Given the description of an element on the screen output the (x, y) to click on. 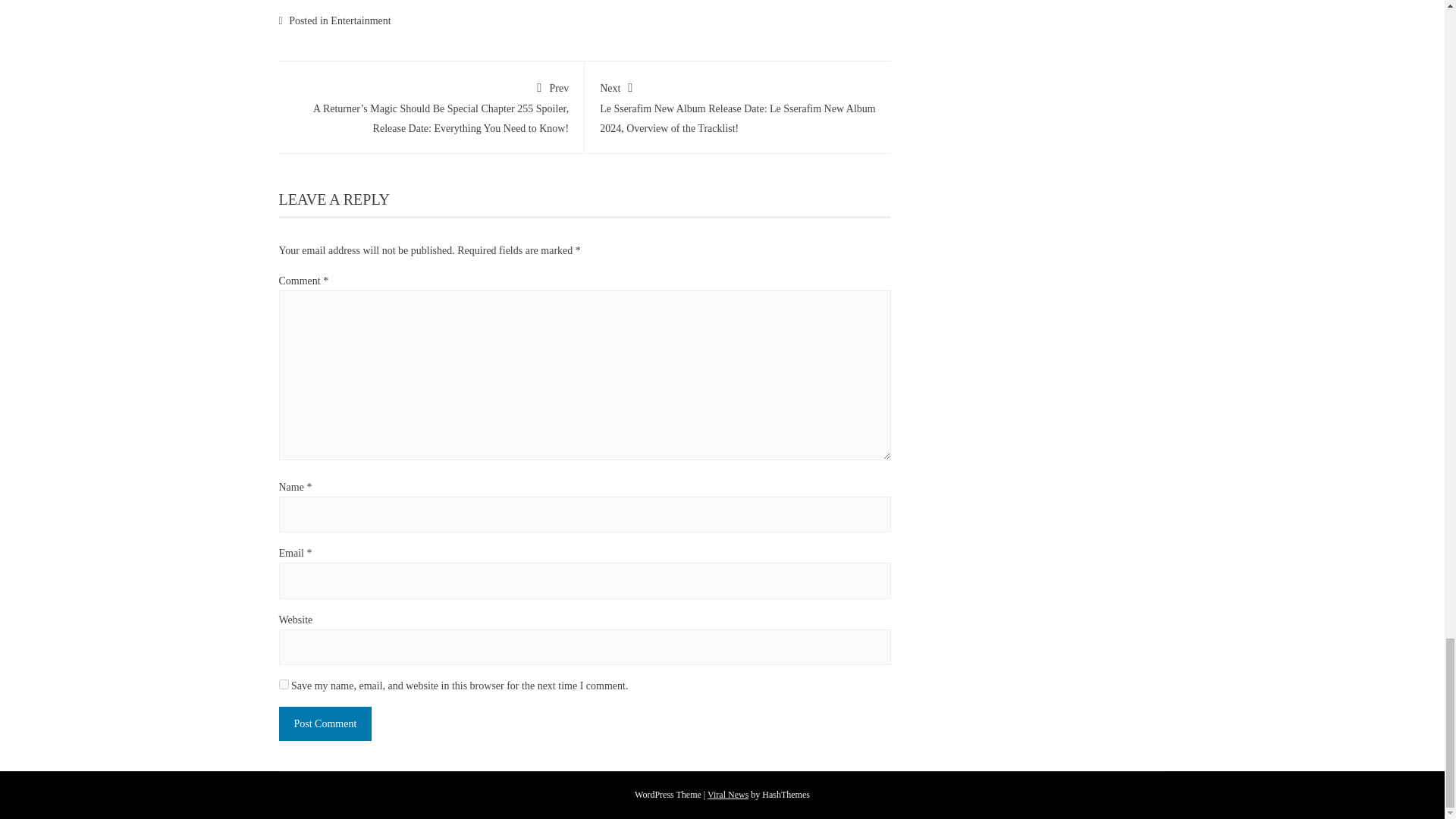
Entertainment (360, 20)
Post Comment (325, 723)
Post Comment (325, 723)
yes (283, 684)
Download Viral News (727, 794)
